Given the description of an element on the screen output the (x, y) to click on. 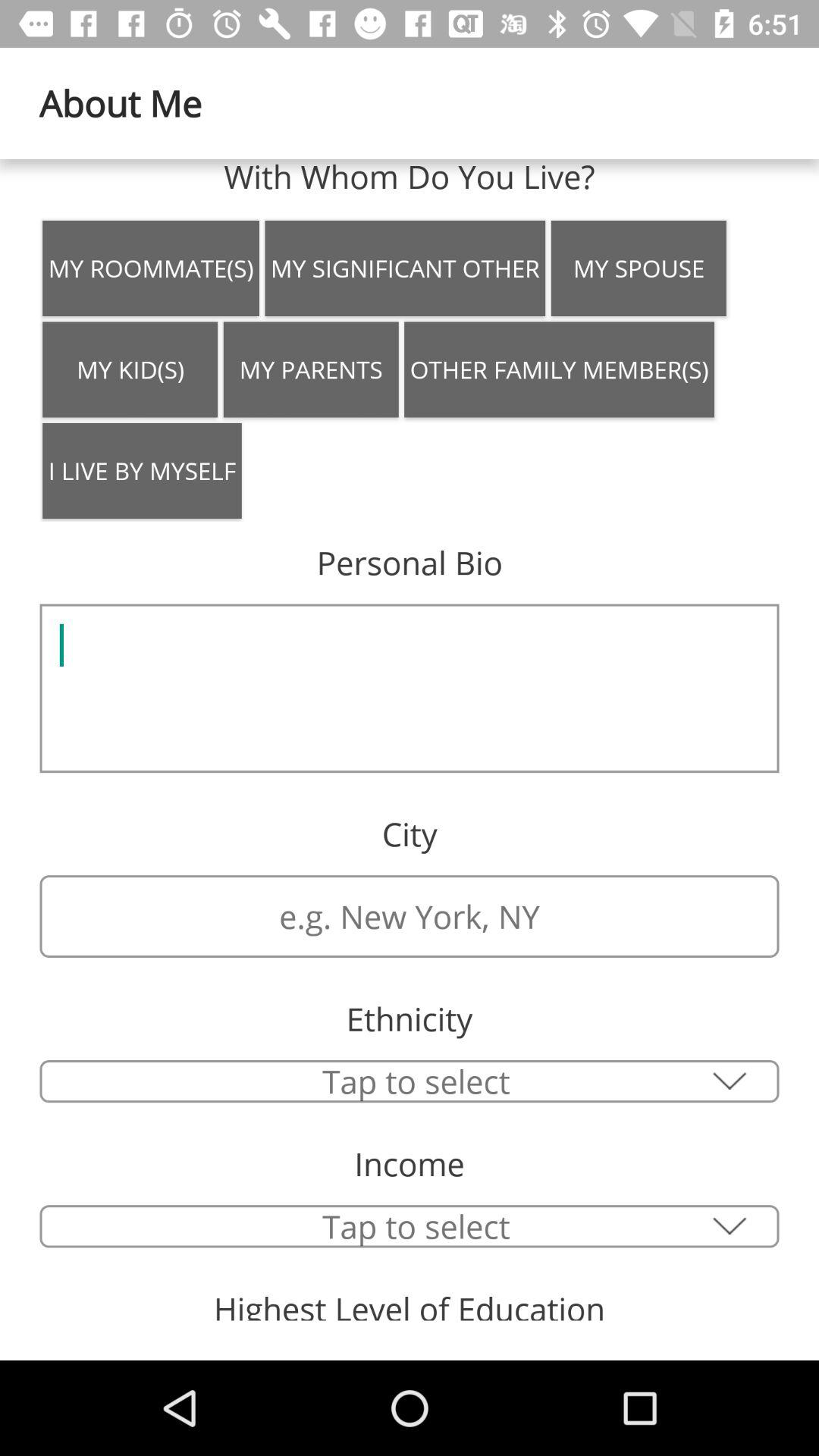
type your city (409, 916)
